Given the description of an element on the screen output the (x, y) to click on. 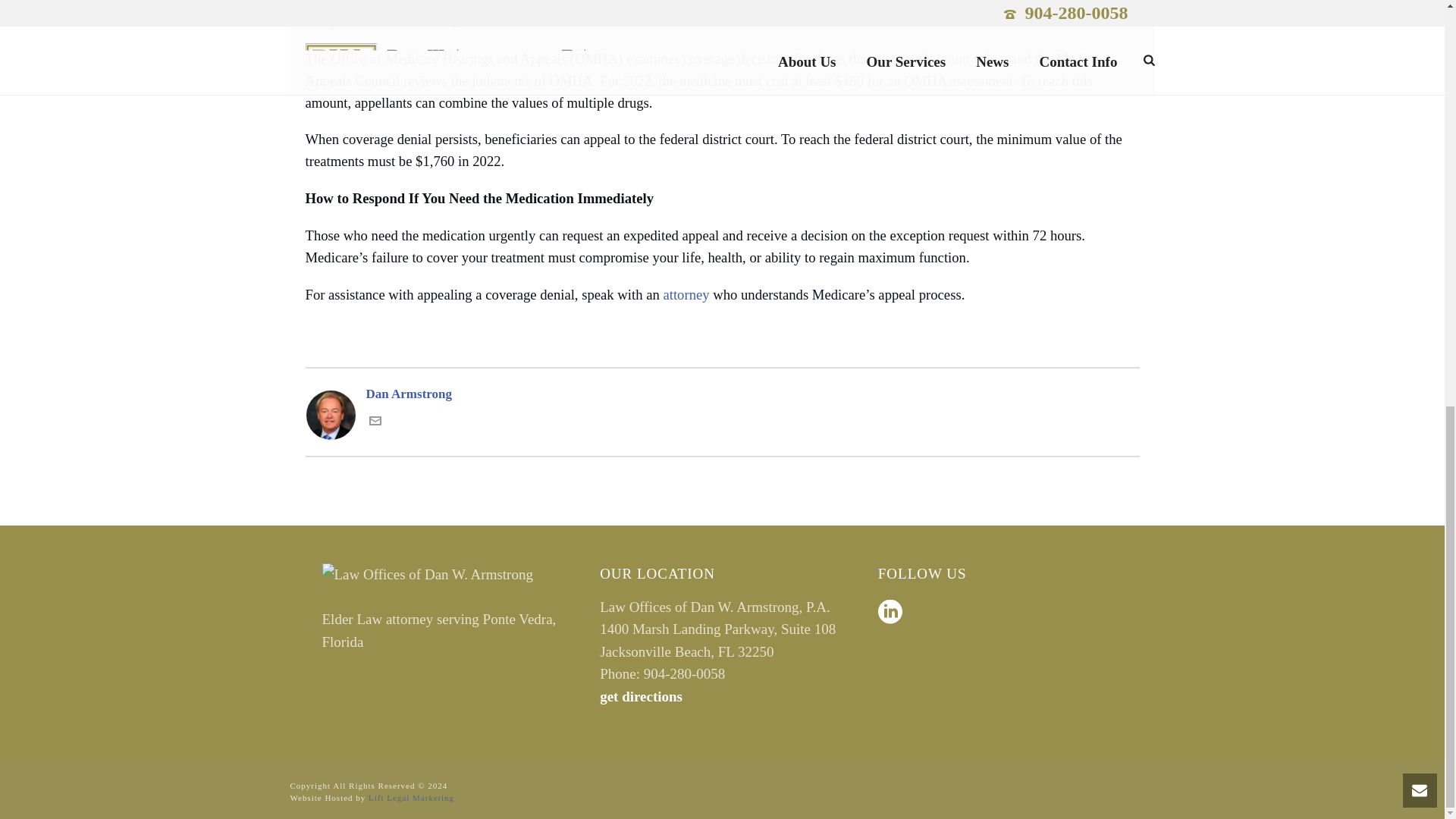
attorney (685, 294)
Lift Legal Marketing (411, 797)
get directions (640, 696)
Dan Armstrong (721, 394)
Follow Us on linkedin (889, 612)
